Given the description of an element on the screen output the (x, y) to click on. 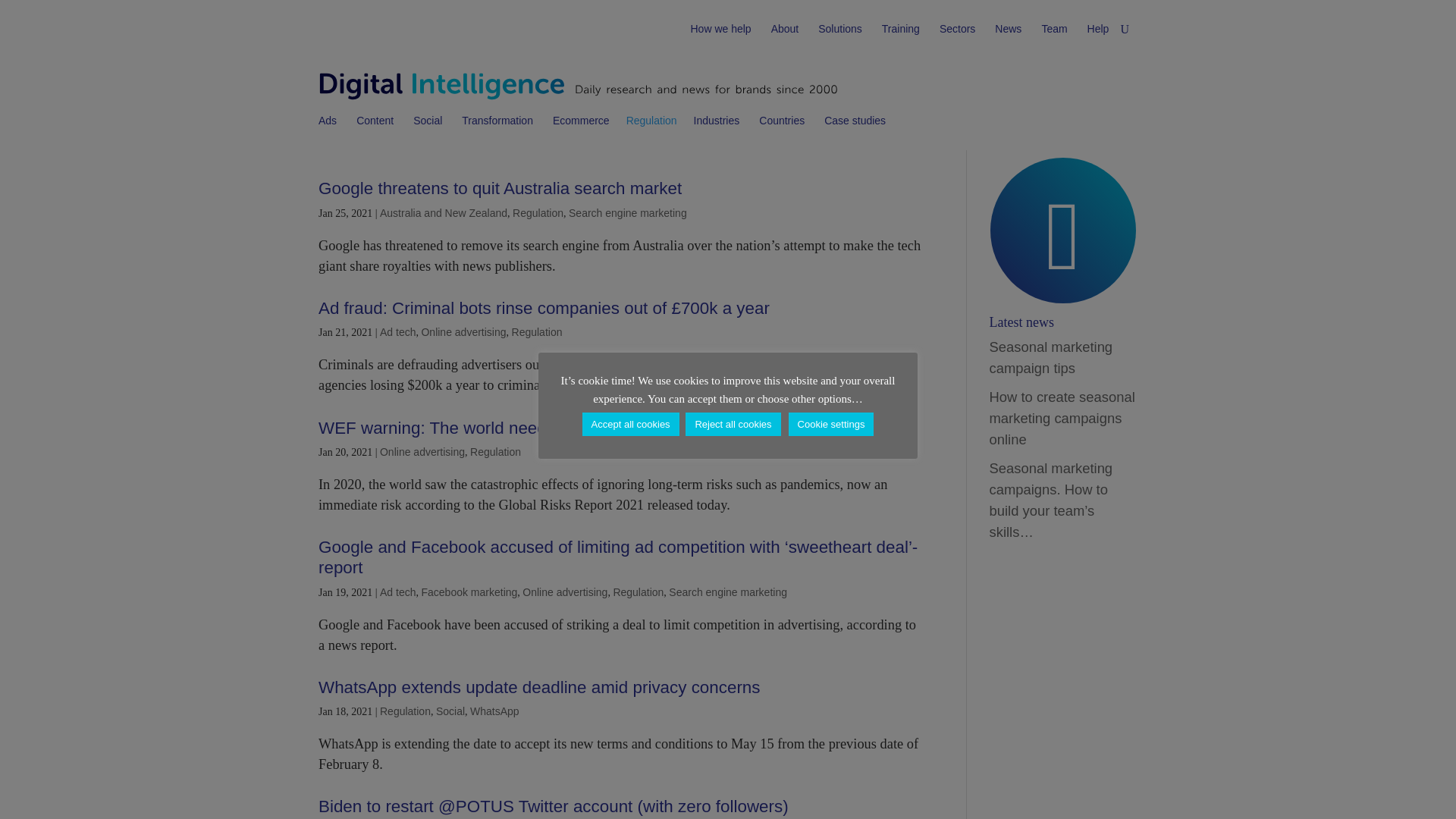
Training (902, 37)
About (786, 37)
Solutions (841, 37)
How we help (722, 37)
